Given the description of an element on the screen output the (x, y) to click on. 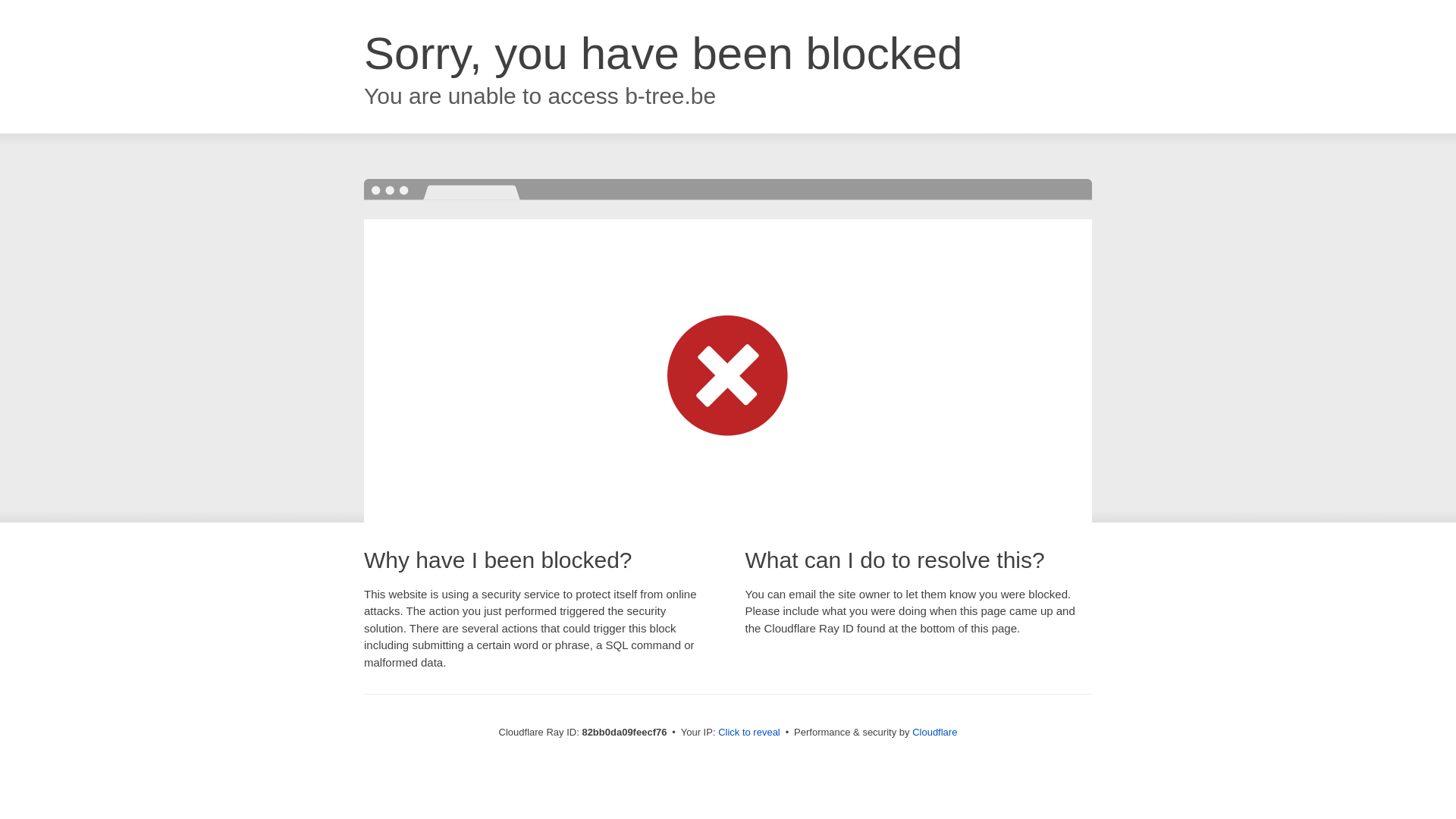
Cloudflare Element type: text (934, 731)
Click to reveal Element type: text (749, 732)
